Given the description of an element on the screen output the (x, y) to click on. 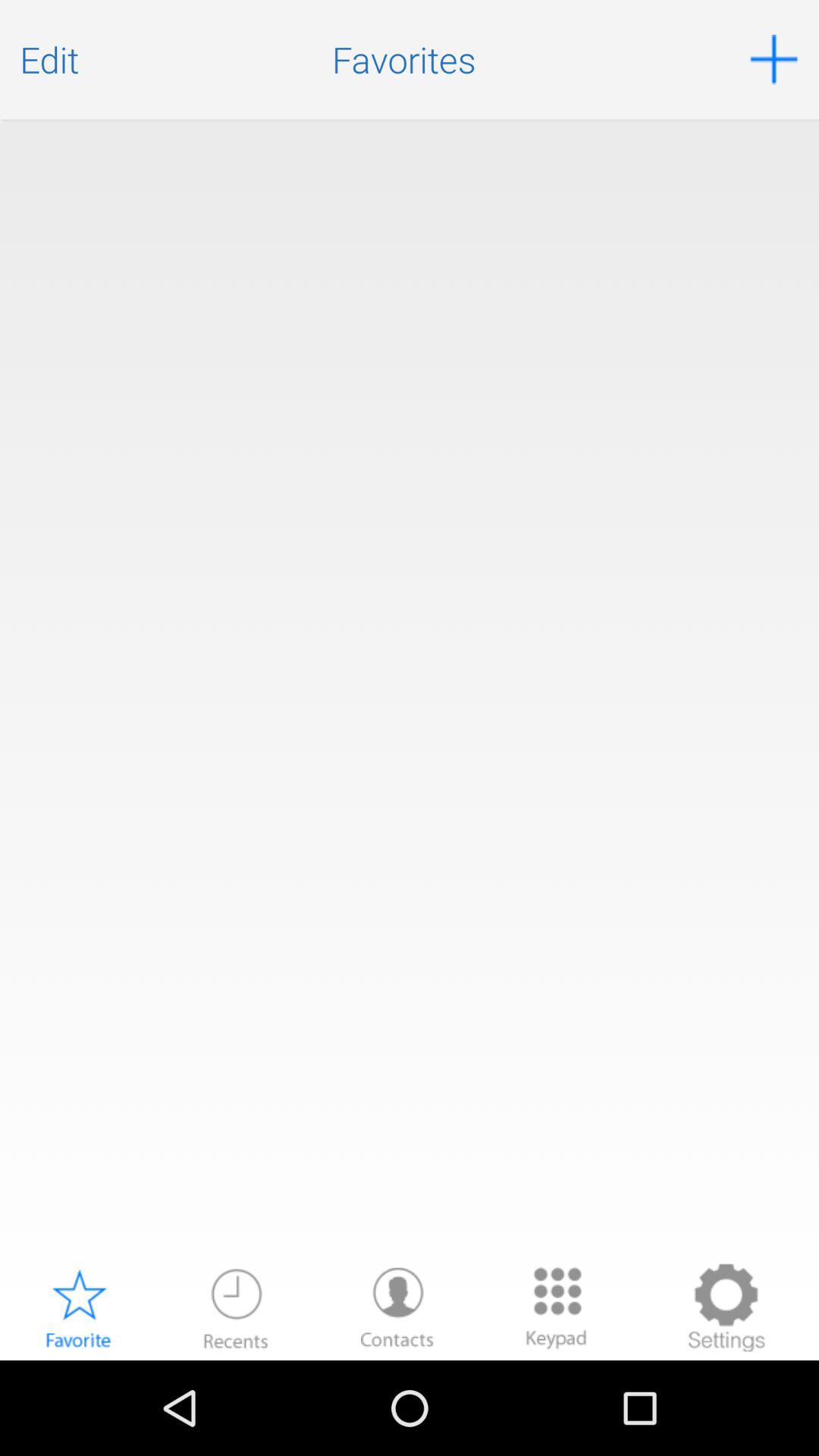
turn off the icon next to the favorites icon (49, 59)
